Given the description of an element on the screen output the (x, y) to click on. 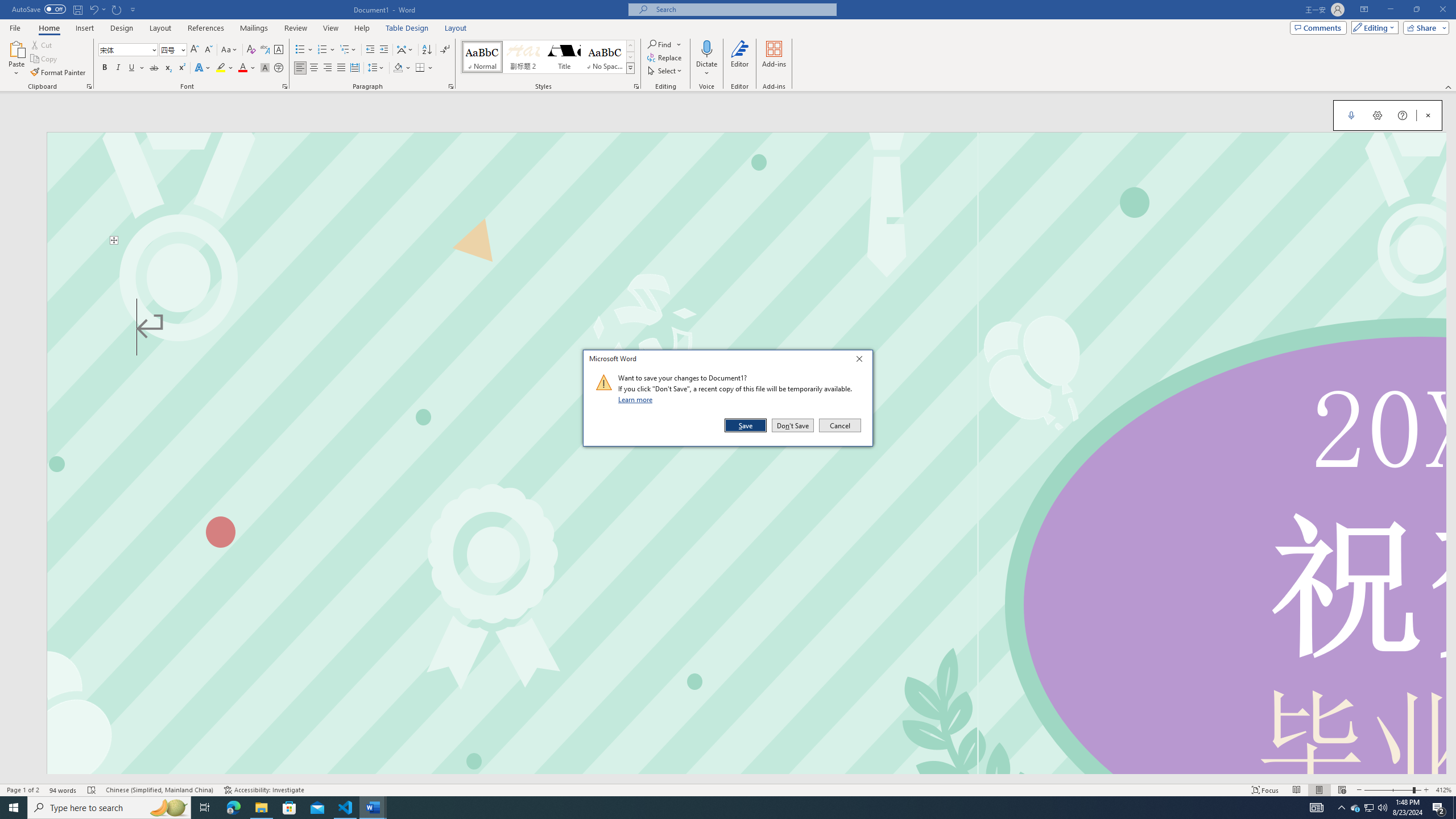
User Promoted Notification Area (1368, 807)
Font Color Red (241, 67)
